Given the description of an element on the screen output the (x, y) to click on. 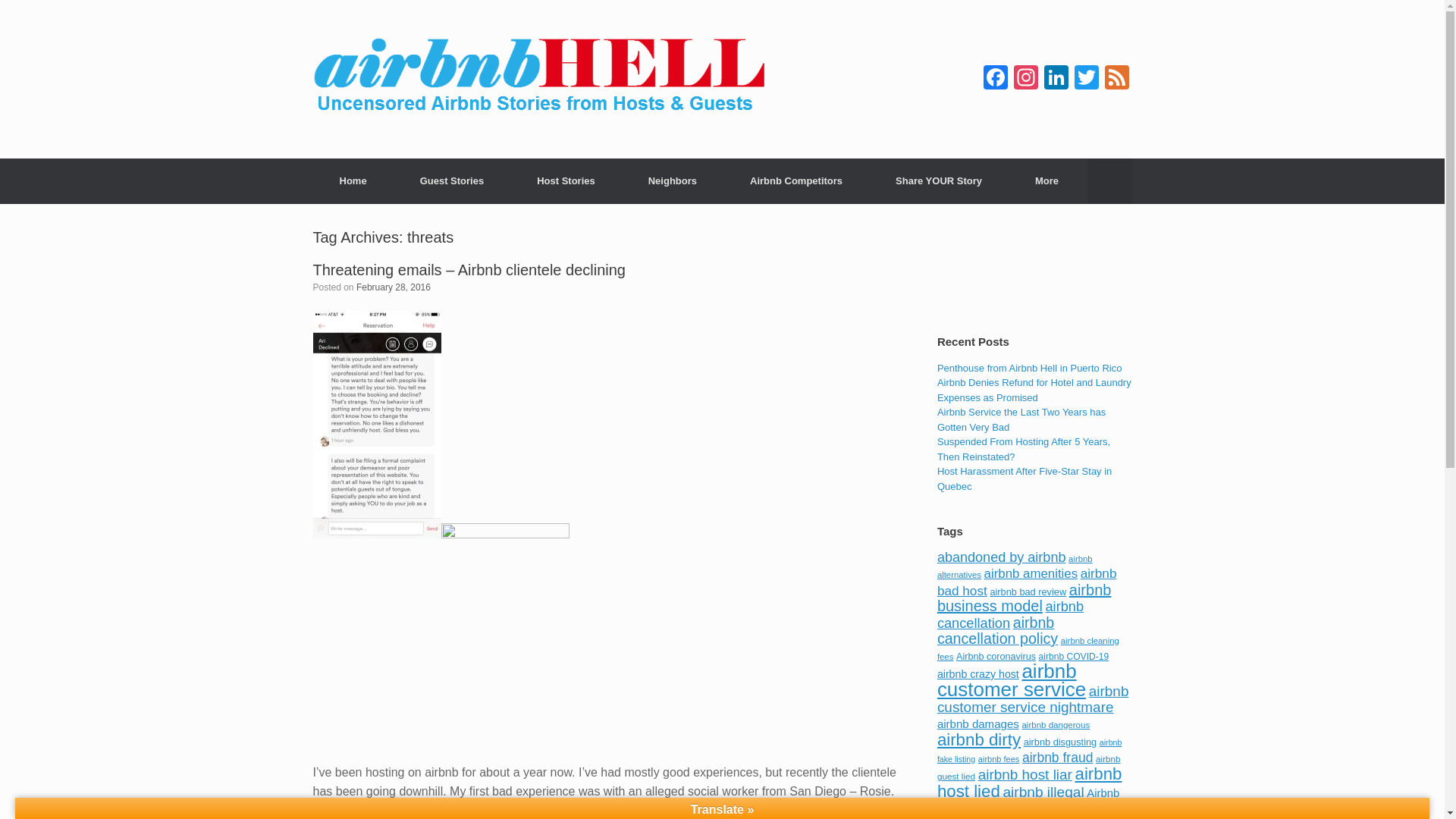
Feed (1115, 79)
Airbnb Competitors (796, 180)
Share YOUR Airbnb Story with the community (939, 180)
RSS Feed (1115, 79)
More Info (1046, 180)
Host Stories (566, 180)
Reasons why you should consider not using the Airbnb service (353, 180)
More (1046, 180)
Read uncensored stories from Airbnb Neighbors (672, 180)
Read uncensored stories from Airbnb guests (452, 180)
